Given the description of an element on the screen output the (x, y) to click on. 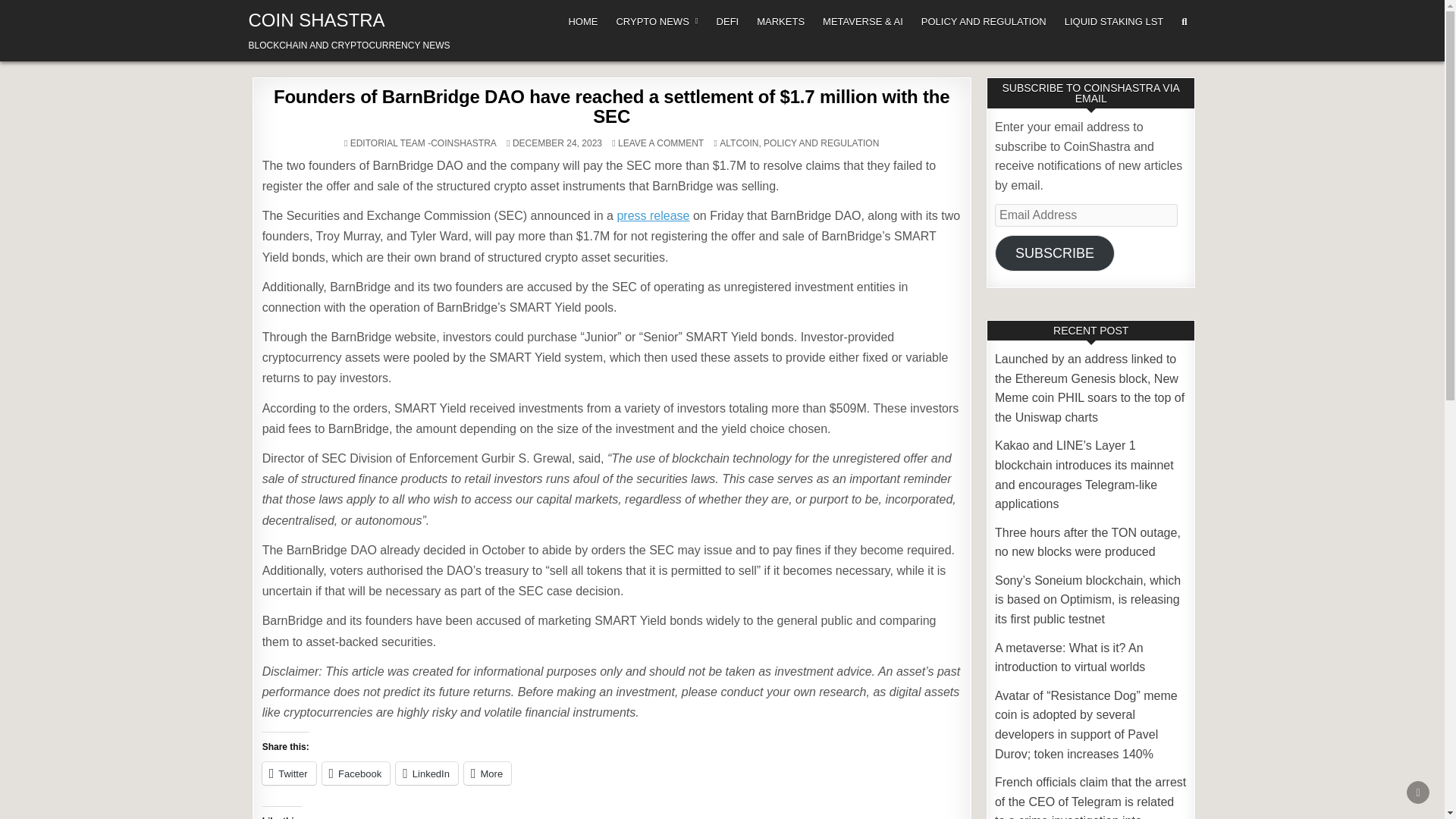
press release (651, 215)
More (487, 773)
Click to share on Twitter (288, 773)
SCROLL TO TOP (1417, 792)
ALTCOIN (738, 143)
Click to share on LinkedIn (427, 773)
EDITORIAL TEAM -COINSHASTRA (423, 143)
Facebook (355, 773)
LIQUID STAKING LST (1114, 21)
CRYPTO NEWS (656, 21)
